Given the description of an element on the screen output the (x, y) to click on. 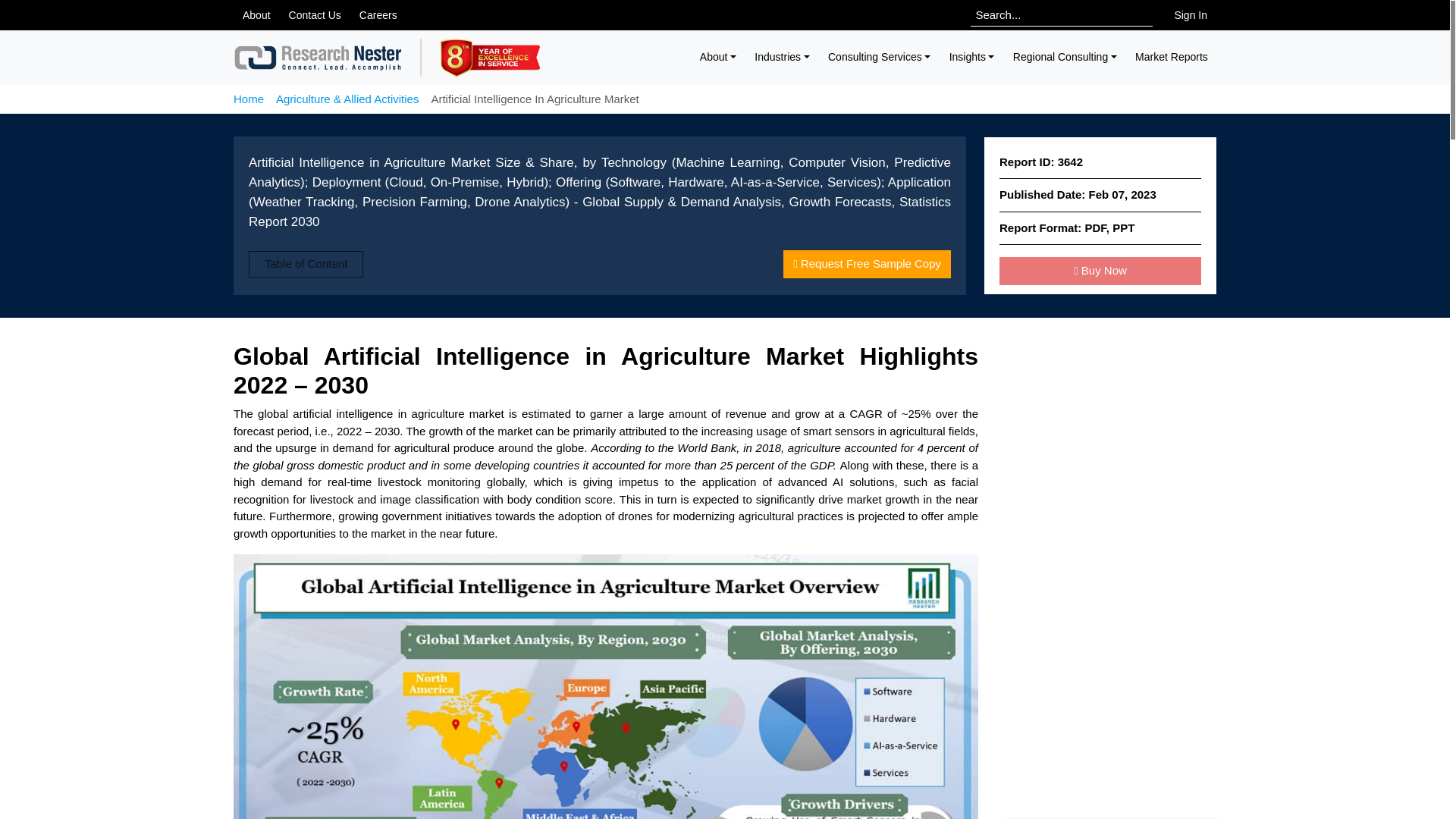
Contact Us (314, 15)
About (255, 15)
Research Nester (318, 57)
Sign In (1189, 15)
Media Center (255, 15)
Contact Us (314, 15)
Industries (781, 57)
Sign In (1189, 15)
Careers (378, 15)
Media Center (378, 15)
About (718, 57)
